Given the description of an element on the screen output the (x, y) to click on. 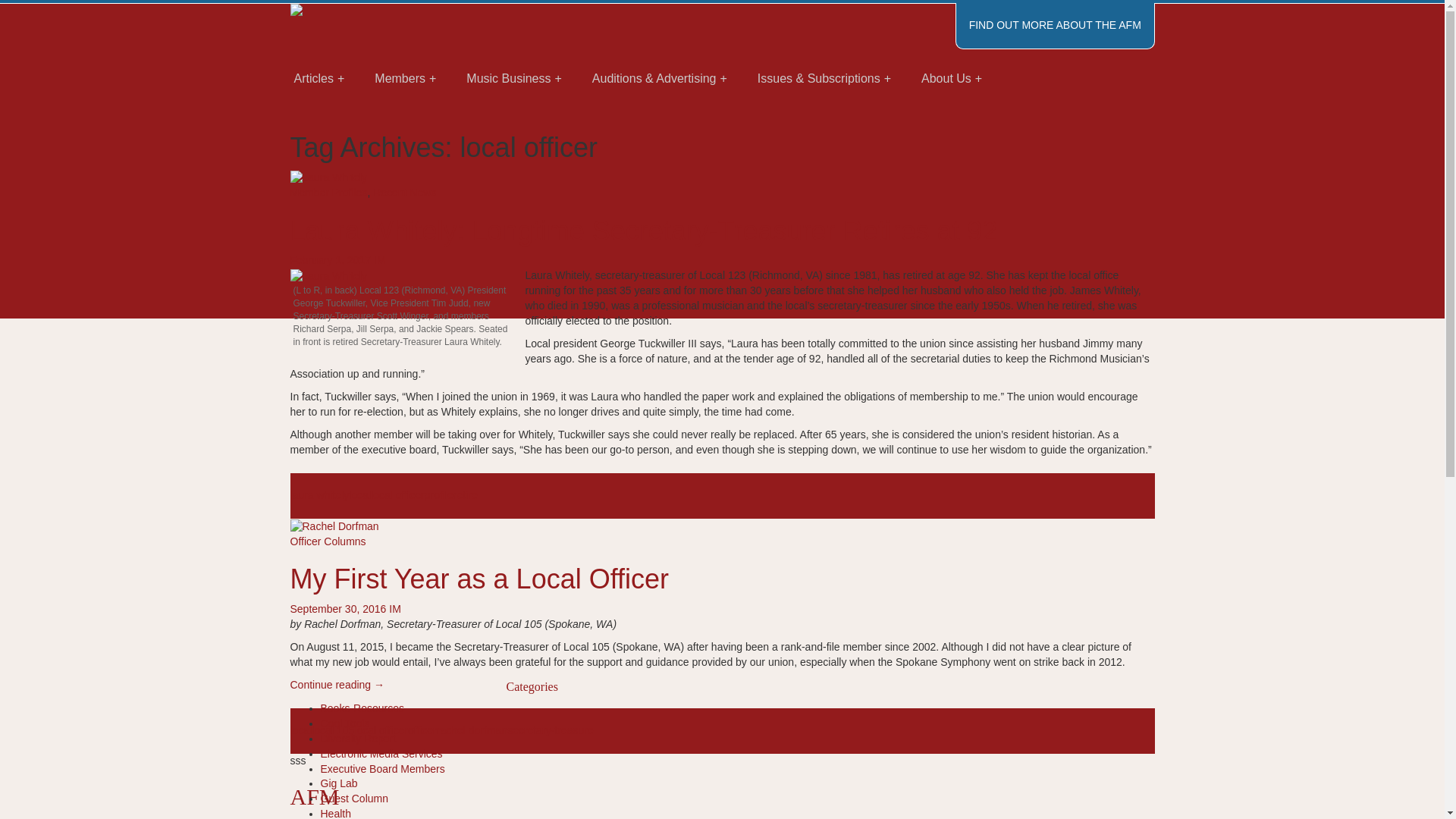
Articles (319, 78)
Music Business (513, 78)
About Us (951, 78)
Members (405, 78)
